Given the description of an element on the screen output the (x, y) to click on. 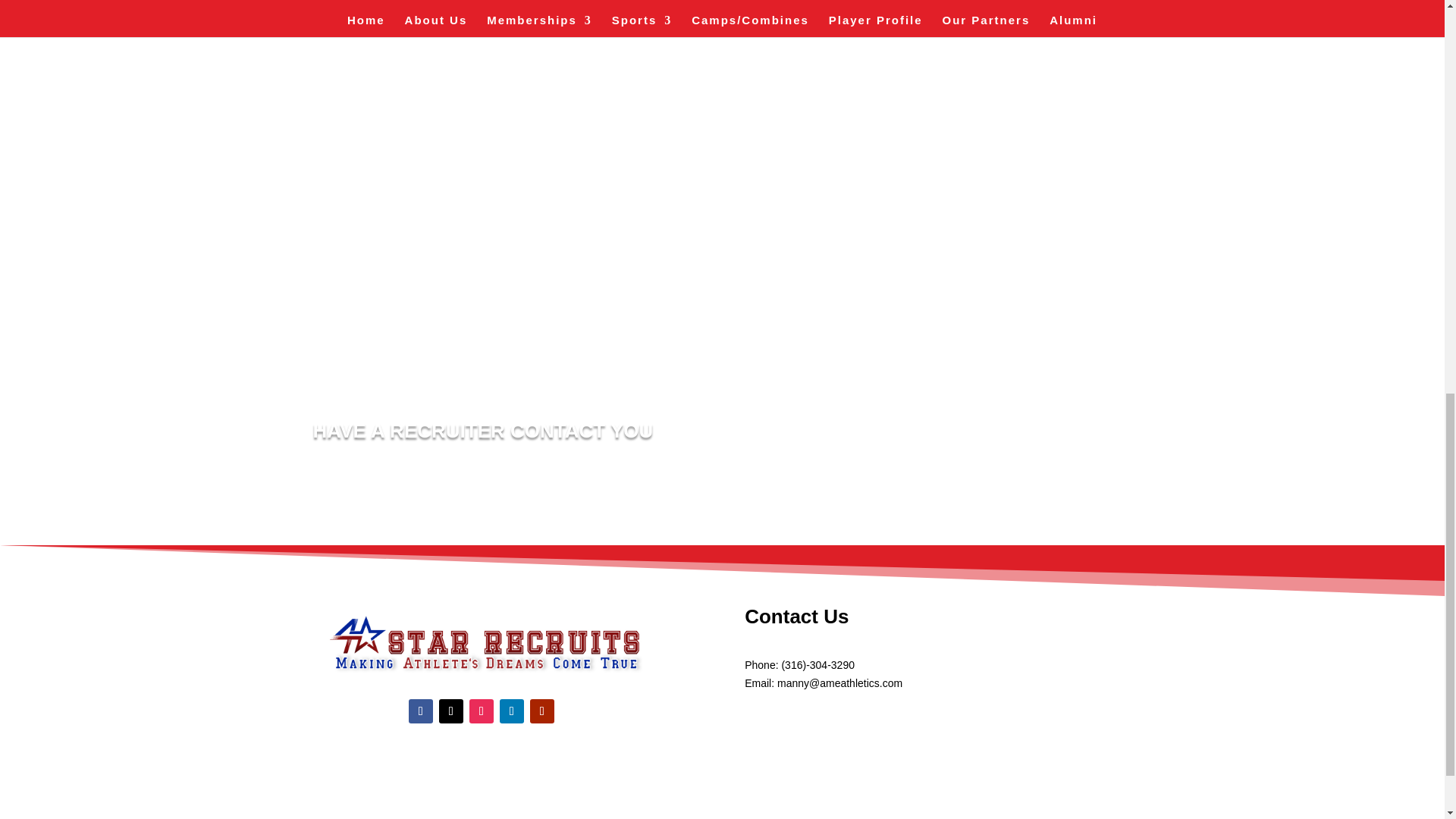
Follow on Youtube (541, 711)
Follow on Facebook (420, 711)
Follow on LinkedIn (511, 711)
Final-Logo (481, 642)
Follow on Instagram (480, 711)
Follow on X (451, 711)
